Given the description of an element on the screen output the (x, y) to click on. 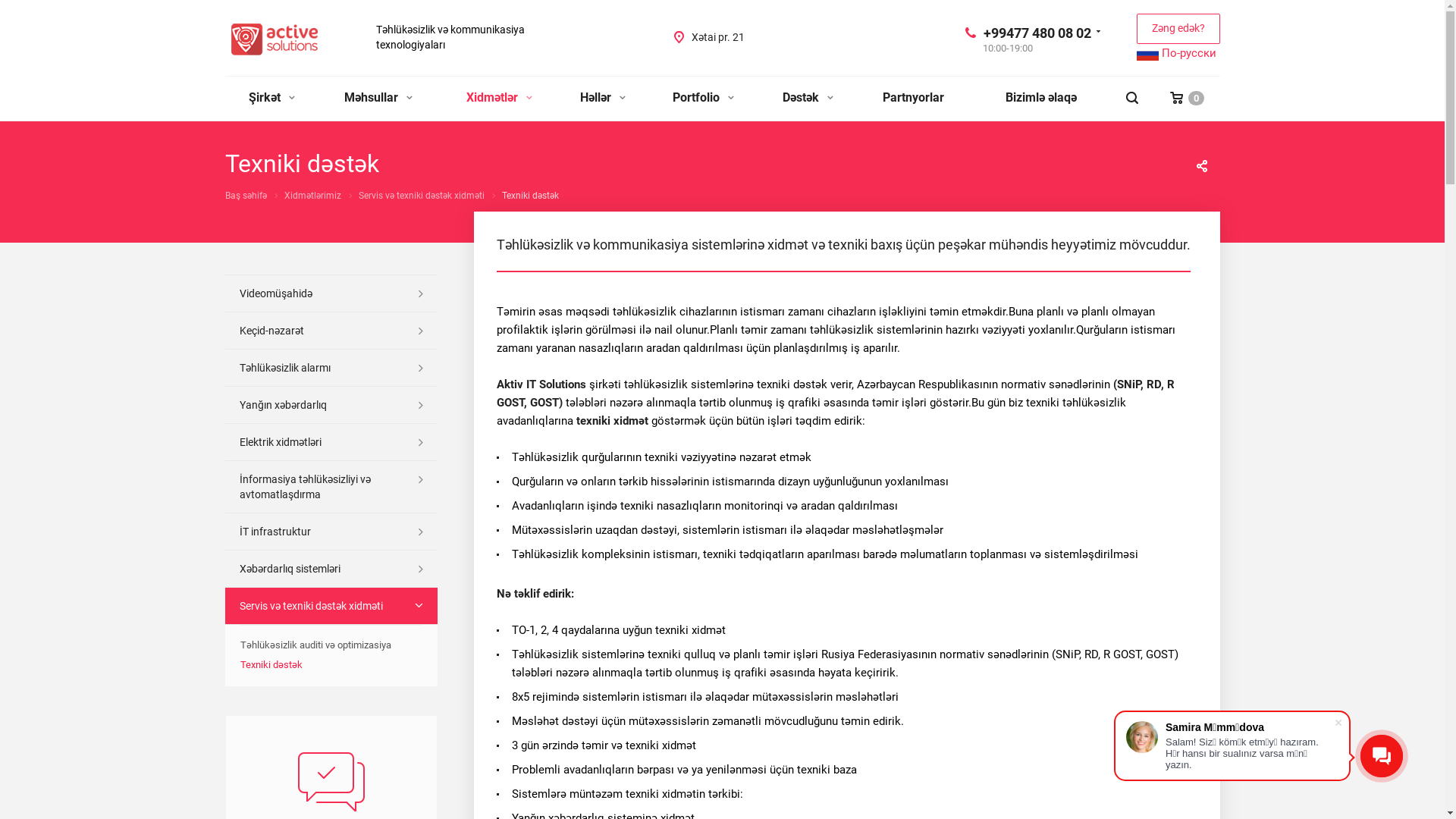
+99477 480 08 02 Element type: text (1036, 32)
Partnyorlar Element type: text (913, 97)
0 Element type: text (1187, 97)
Active solutions Element type: hover (274, 38)
Portfolio Element type: text (700, 97)
